Given the description of an element on the screen output the (x, y) to click on. 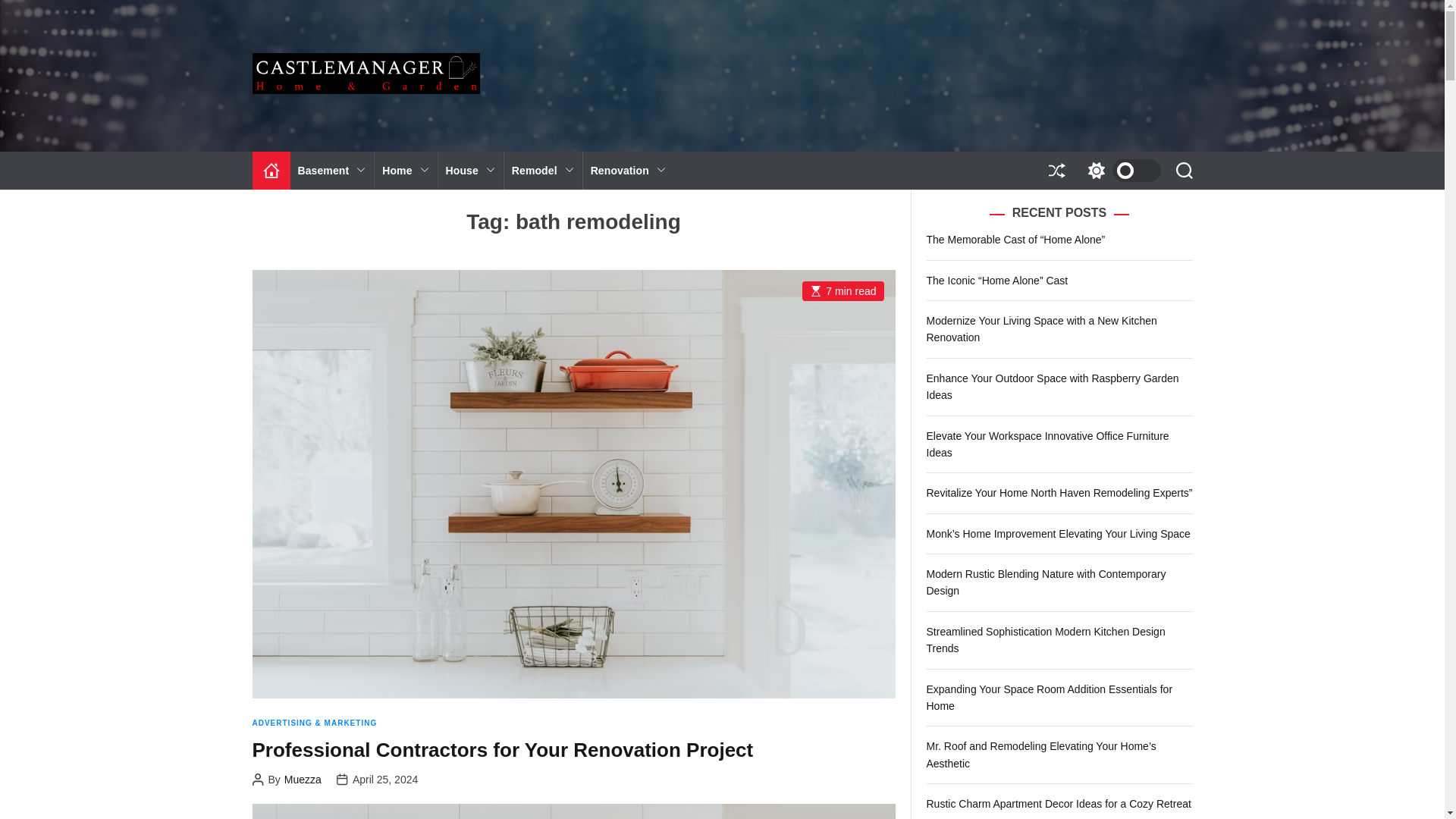
Basement (331, 170)
Remodel (542, 170)
Home (270, 170)
Search (1183, 170)
Shuffle (1056, 170)
Renovation (627, 170)
House (470, 170)
Home (405, 170)
Switch color mode (1120, 170)
